Given the description of an element on the screen output the (x, y) to click on. 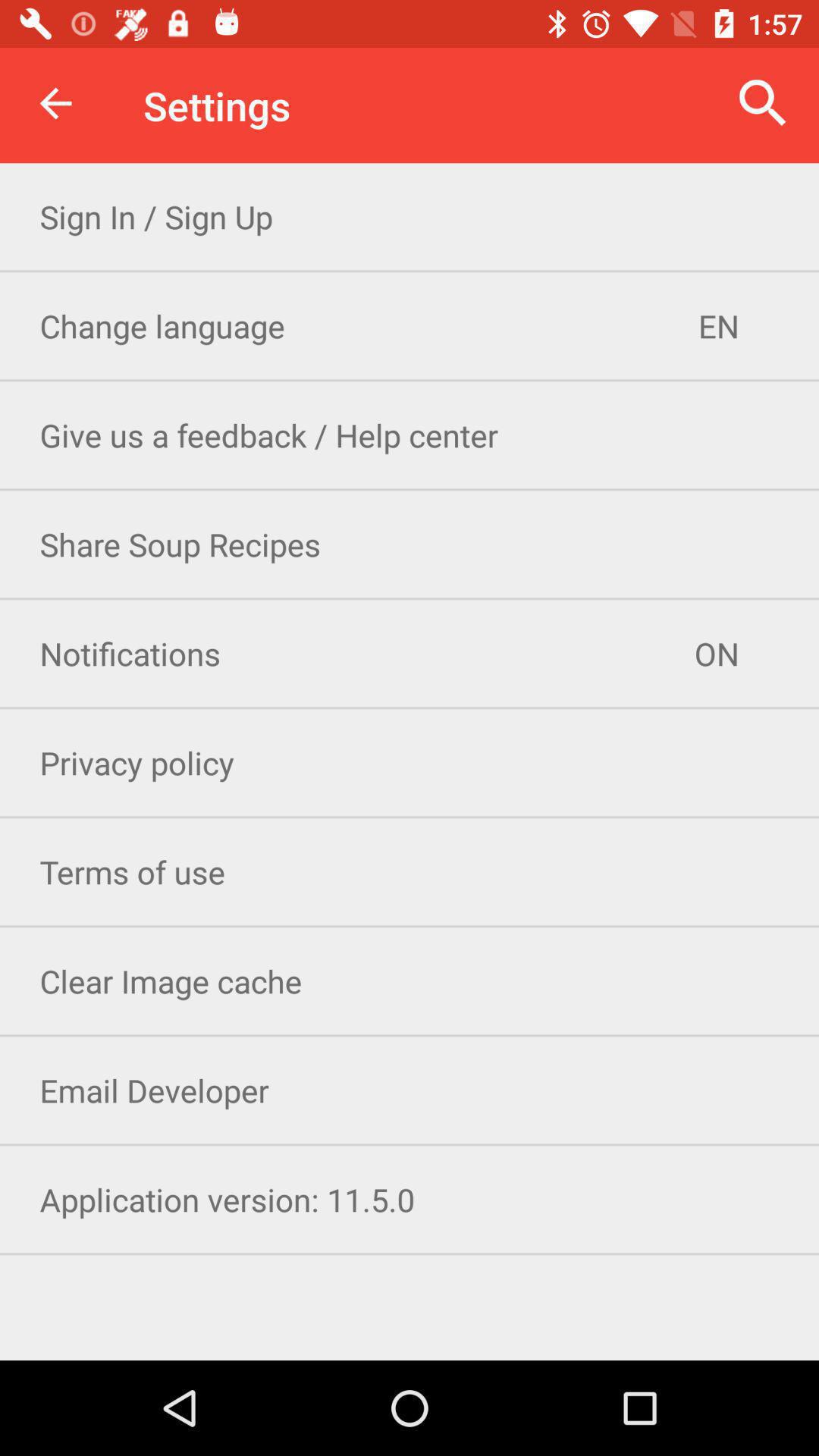
turn on terms of use icon (409, 871)
